Given the description of an element on the screen output the (x, y) to click on. 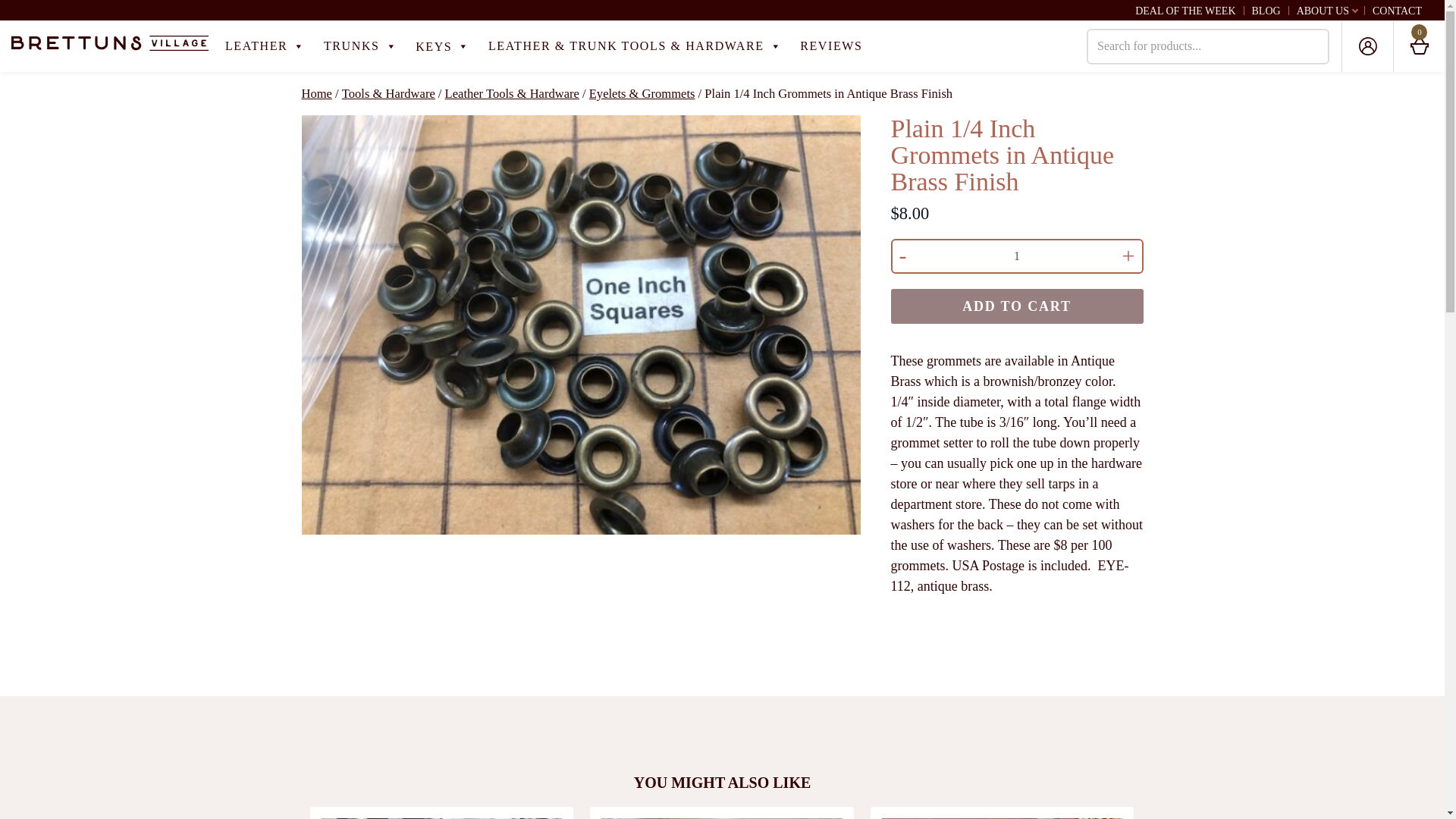
1 (1015, 256)
DEAL OF THE WEEK (1184, 10)
BLOG (1264, 10)
TRUNKS (360, 46)
LEATHER (264, 46)
ABOUT US (1323, 10)
CONTACT (1397, 10)
PayPal (1015, 643)
